Given the description of an element on the screen output the (x, y) to click on. 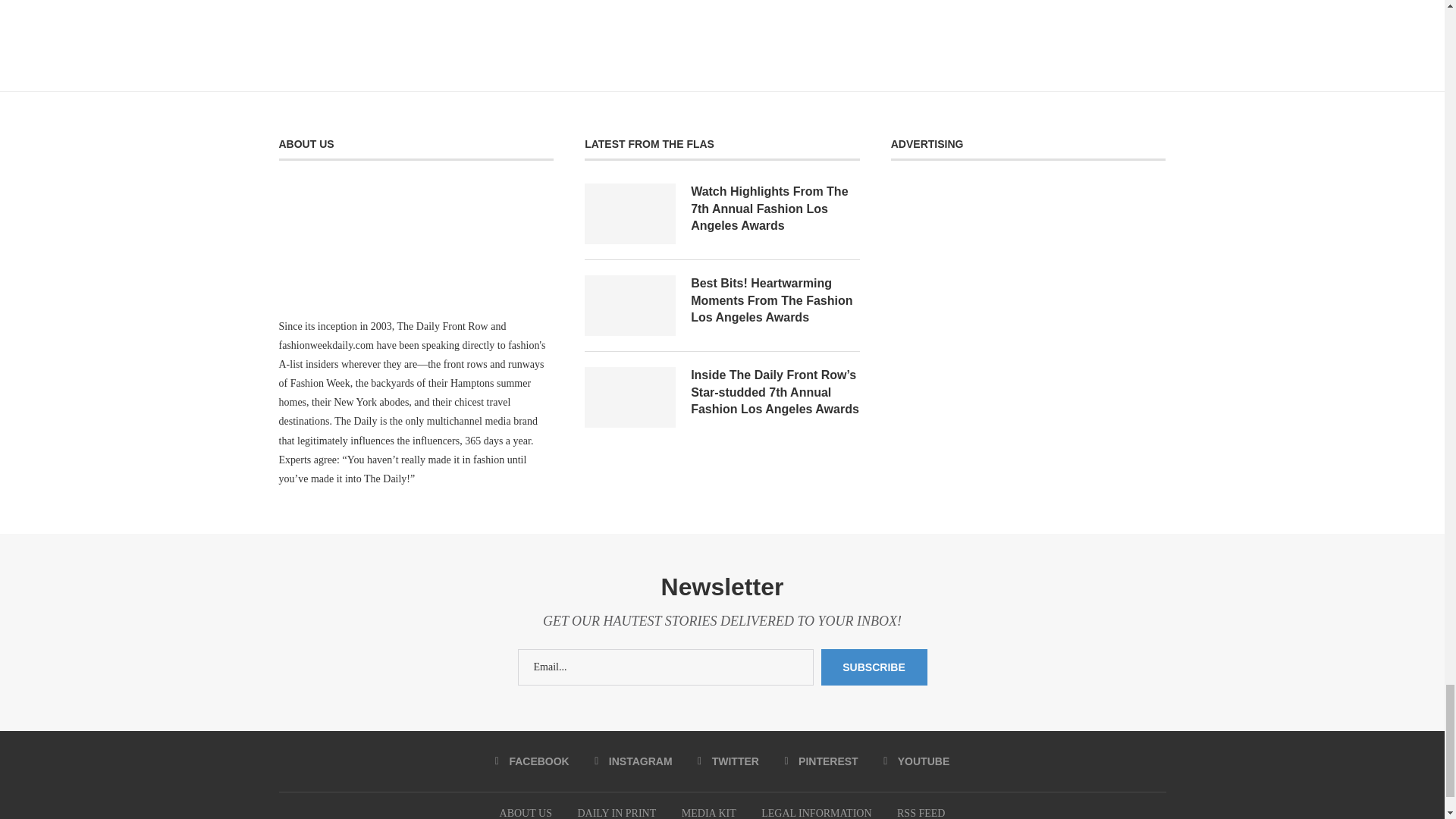
Subscribe (873, 667)
